Given the description of an element on the screen output the (x, y) to click on. 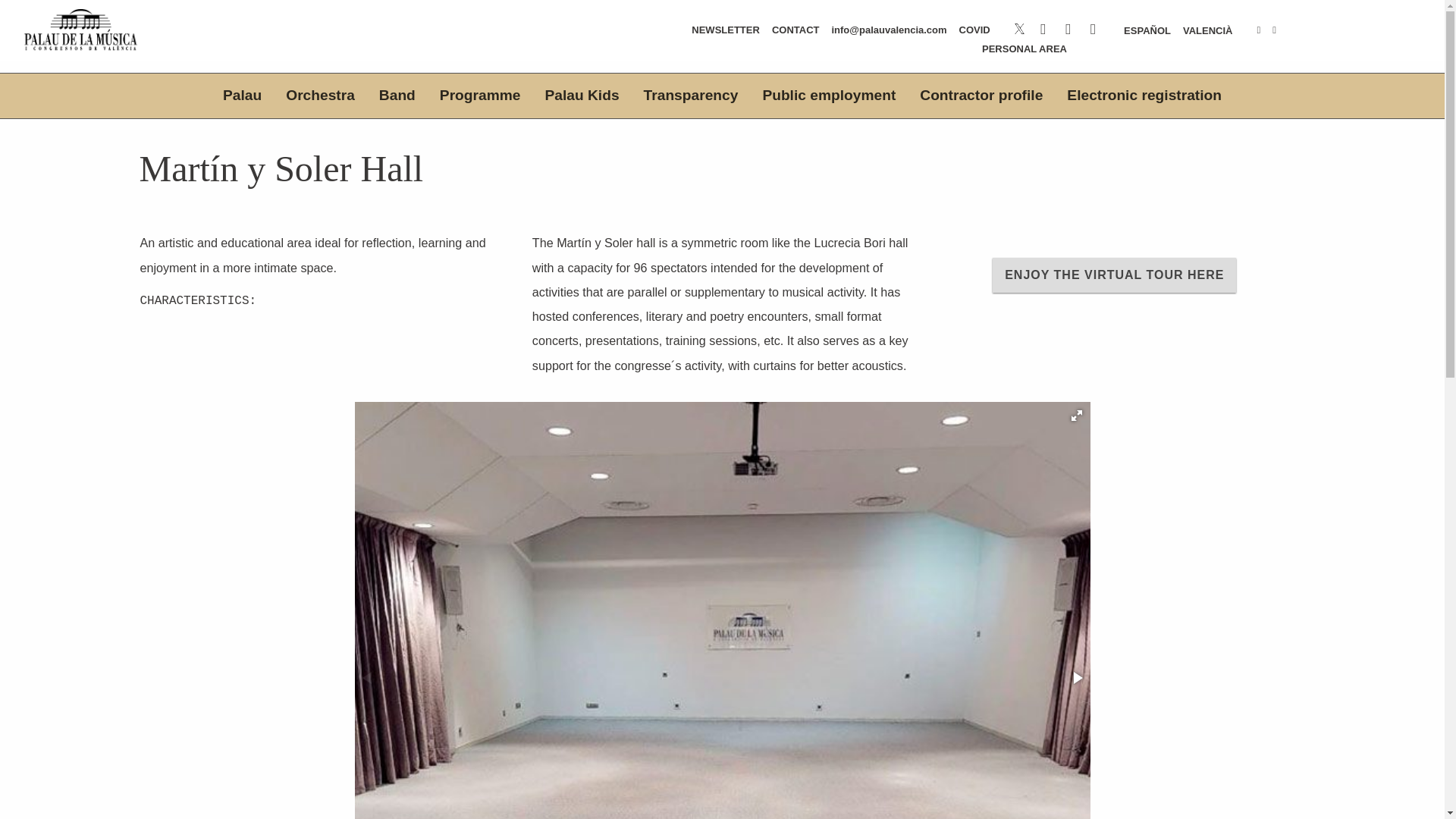
Band (397, 95)
Palau (242, 95)
NEWSLETTER (725, 30)
CONTACT (795, 30)
PERSONAL AREA (1024, 49)
COVID (974, 30)
Orchestra (319, 95)
